Given the description of an element on the screen output the (x, y) to click on. 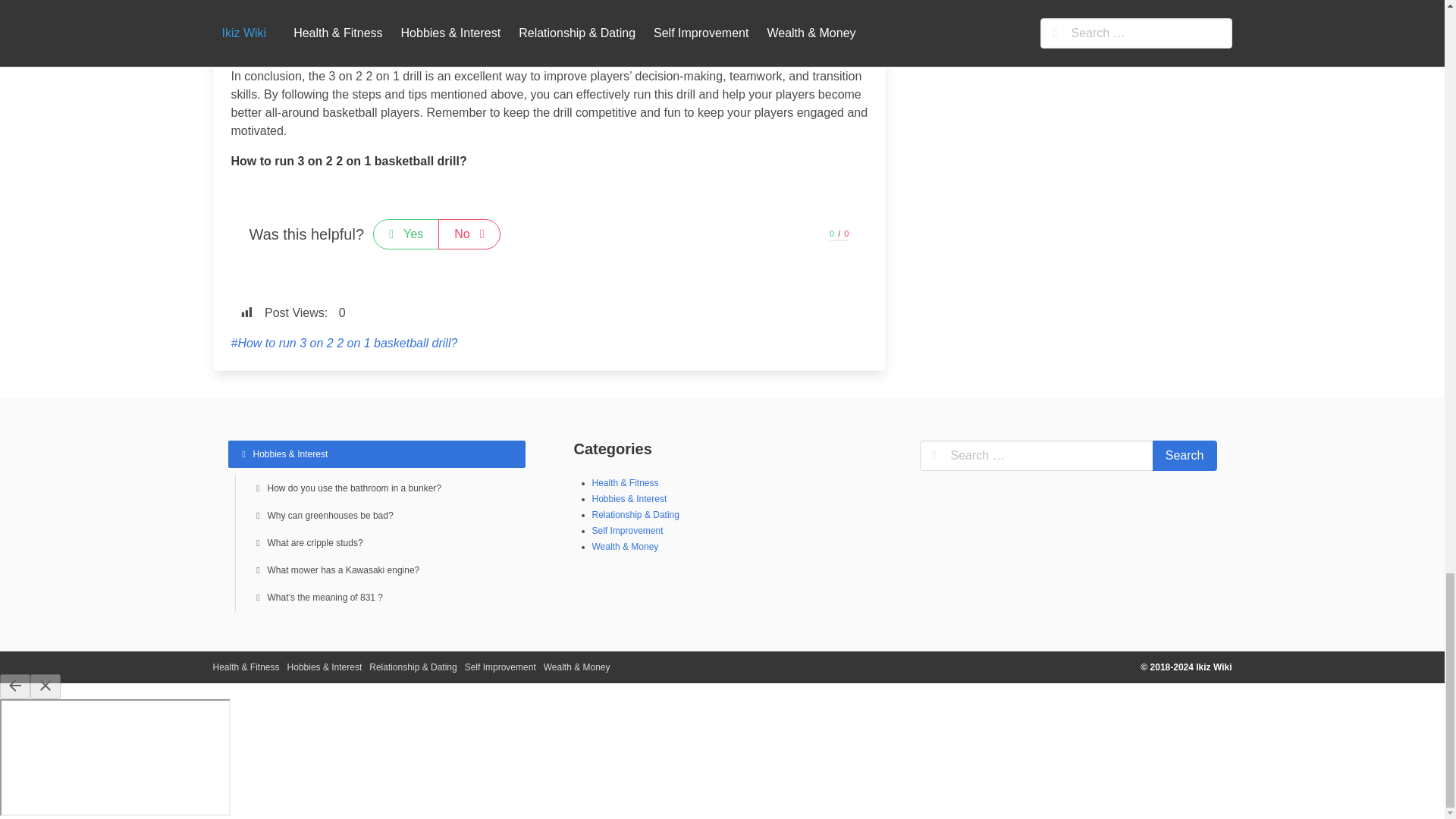
Search (1185, 455)
Yes (405, 234)
No (468, 234)
